Given the description of an element on the screen output the (x, y) to click on. 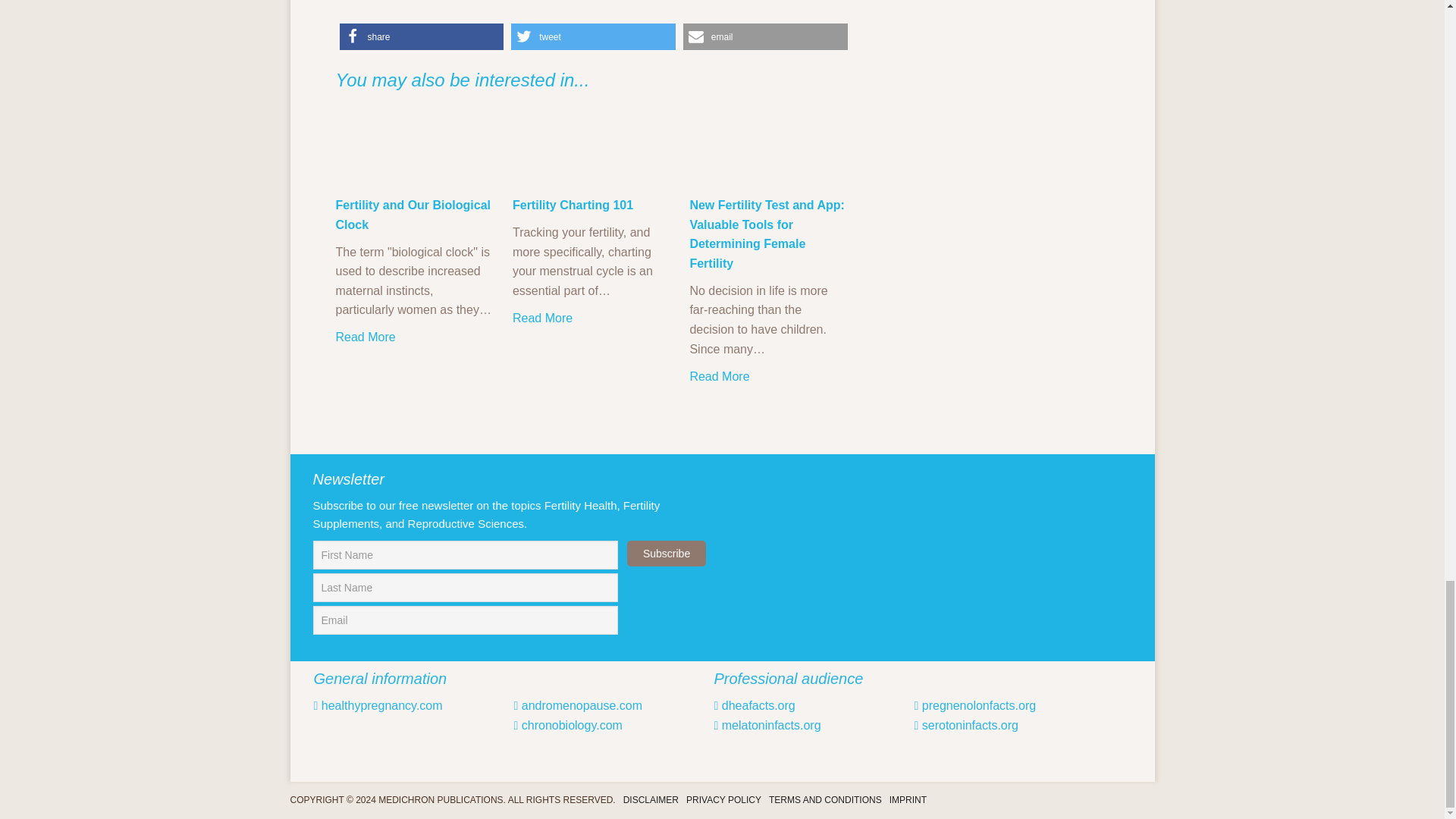
Send by email (764, 36)
Share on Twitter (593, 36)
Subscribe (666, 553)
Share on Facebook (421, 36)
